Given the description of an element on the screen output the (x, y) to click on. 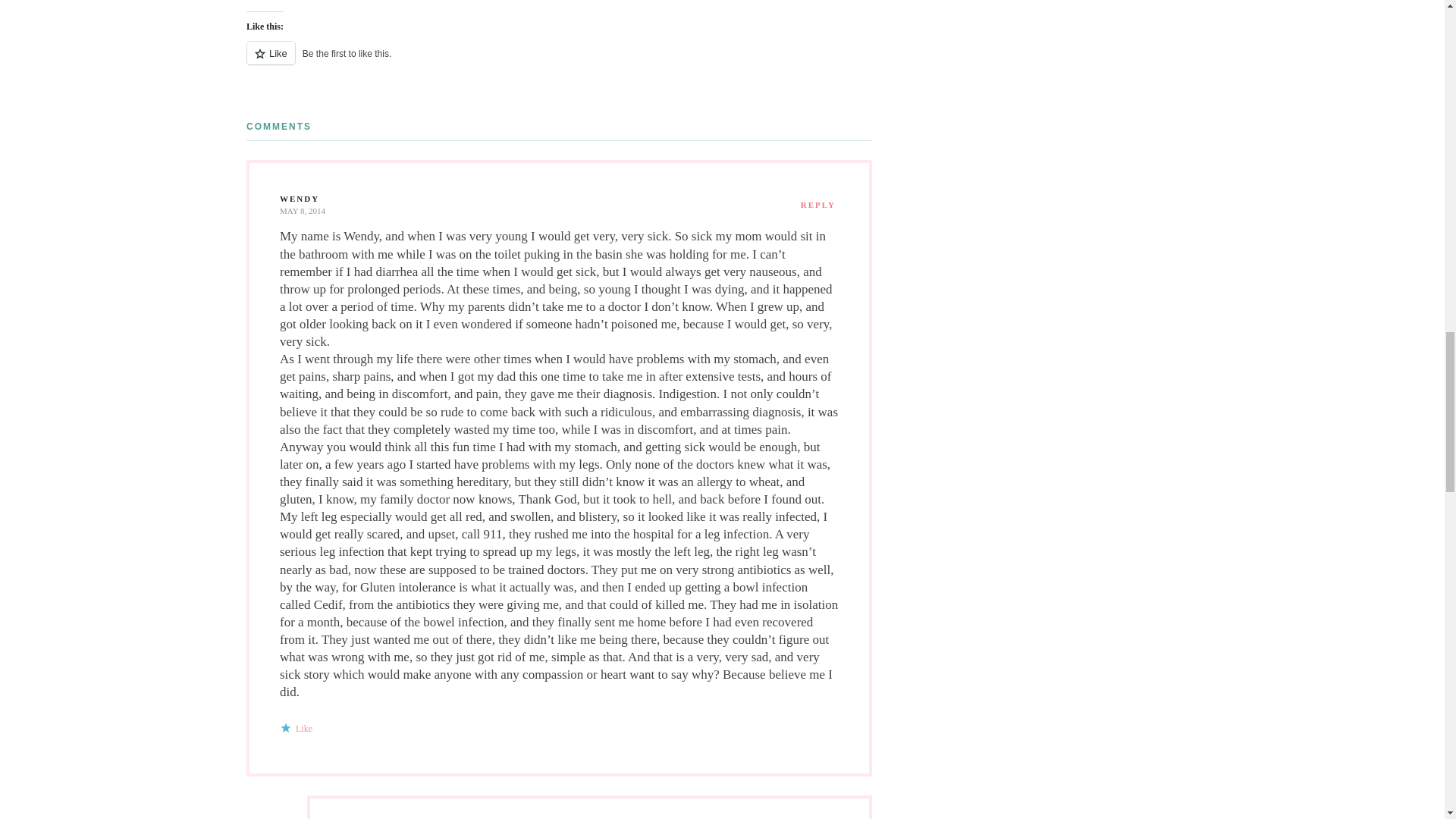
Like or Reblog (559, 61)
